Given the description of an element on the screen output the (x, y) to click on. 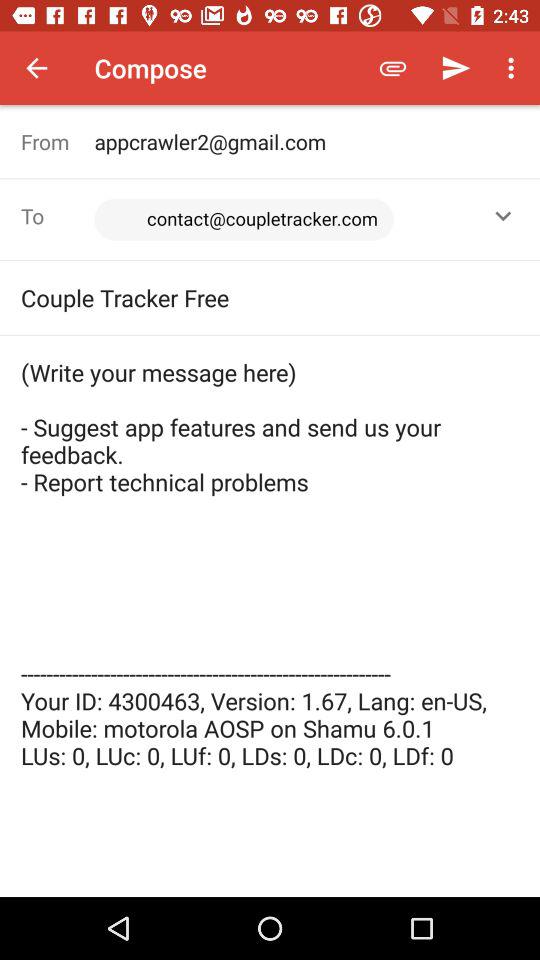
scroll to the couple tracker free (270, 297)
